Given the description of an element on the screen output the (x, y) to click on. 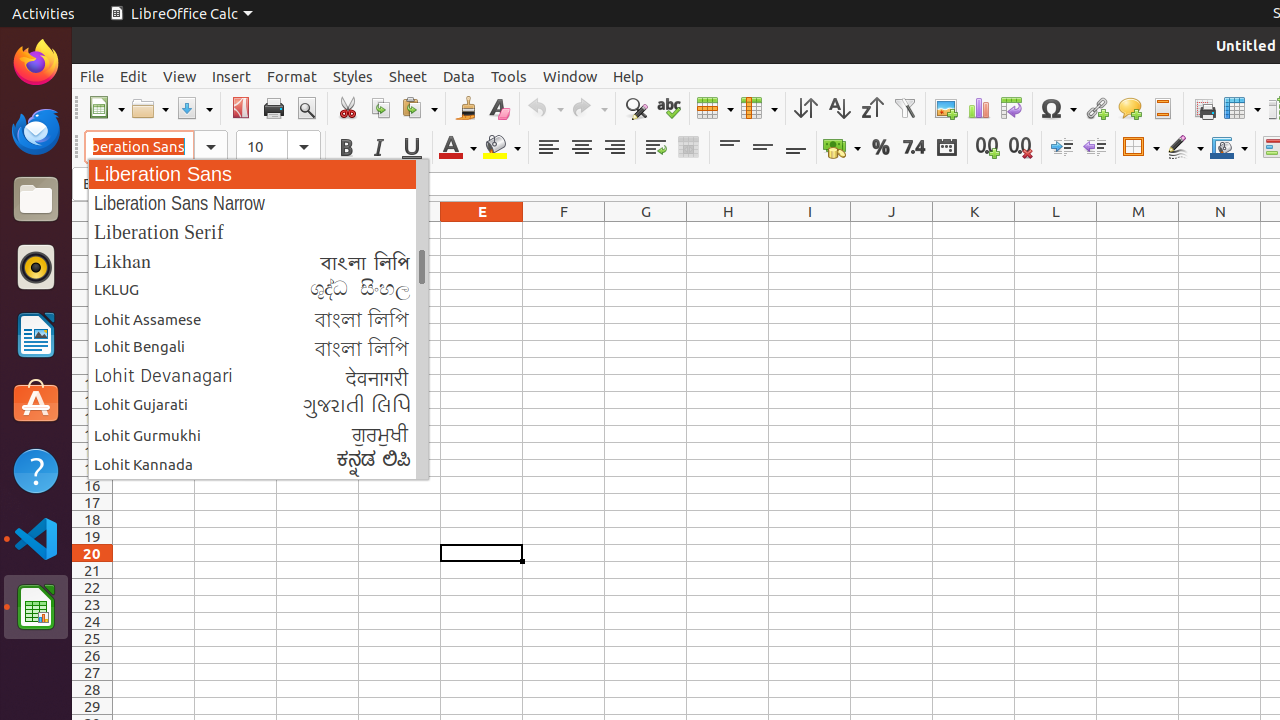
Lohit Gujarati Element type: list-item (258, 405)
G1 Element type: table-cell (646, 230)
E1 Element type: table-cell (482, 230)
Thunderbird Mail Element type: push-button (36, 131)
Open Element type: push-button (150, 108)
